Given the description of an element on the screen output the (x, y) to click on. 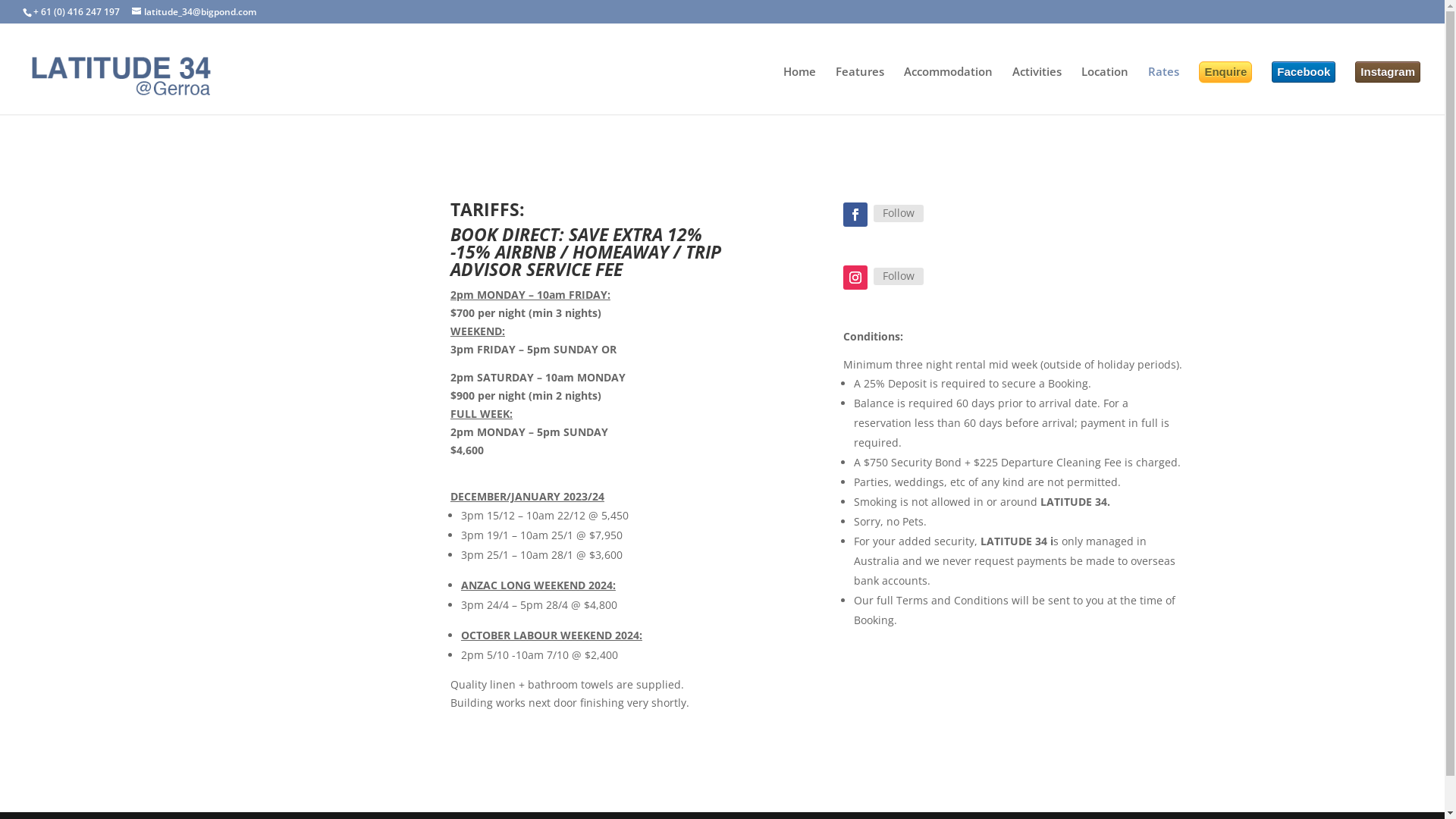
Features Element type: text (859, 89)
Follow Element type: text (898, 212)
latitude_34@bigpond.com Element type: text (193, 11)
Enquire Element type: text (1225, 71)
Location Element type: text (1104, 89)
Follow on Facebook Element type: hover (855, 214)
Home Element type: text (799, 89)
Follow on Instagram Element type: hover (855, 277)
+ 61 (0) 416 247 197 Element type: text (76, 11)
Activities Element type: text (1036, 89)
Accommodation Element type: text (947, 89)
Instagram Element type: text (1387, 71)
Rates Element type: text (1163, 89)
Follow Element type: text (898, 275)
Facebook Element type: text (1303, 71)
